Given the description of an element on the screen output the (x, y) to click on. 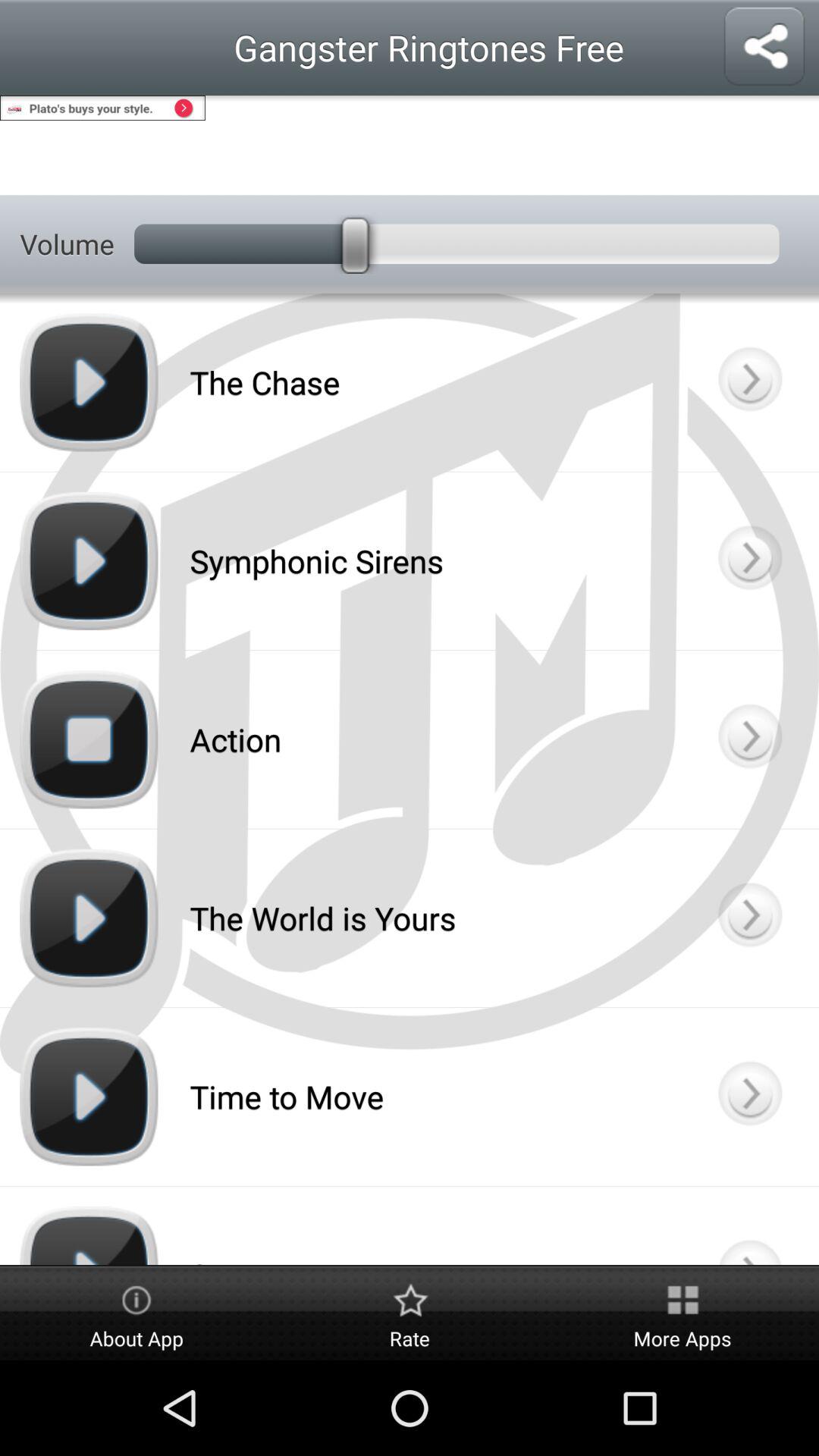
go to options (749, 382)
